Given the description of an element on the screen output the (x, y) to click on. 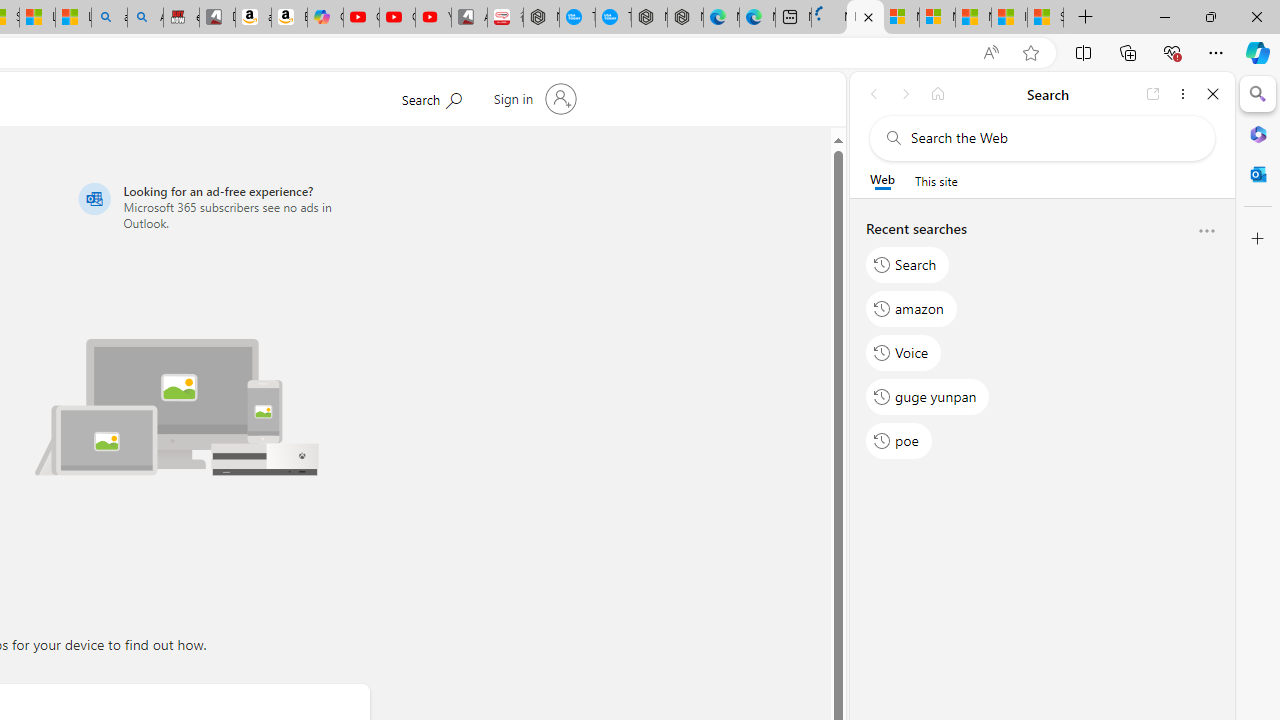
More options (1206, 232)
Forward (906, 93)
Web scope (882, 180)
guge yunpan (927, 396)
I Gained 20 Pounds of Muscle in 30 Days! | Watch (1009, 17)
Nordace - Nordace has arrived Hong Kong (685, 17)
amazon.in/dp/B0CX59H5W7/?tag=gsmcom05-21 (253, 17)
The most popular Google 'how to' searches (613, 17)
Amazon Echo Dot PNG - Search Images (145, 17)
Home (938, 93)
